Given the description of an element on the screen output the (x, y) to click on. 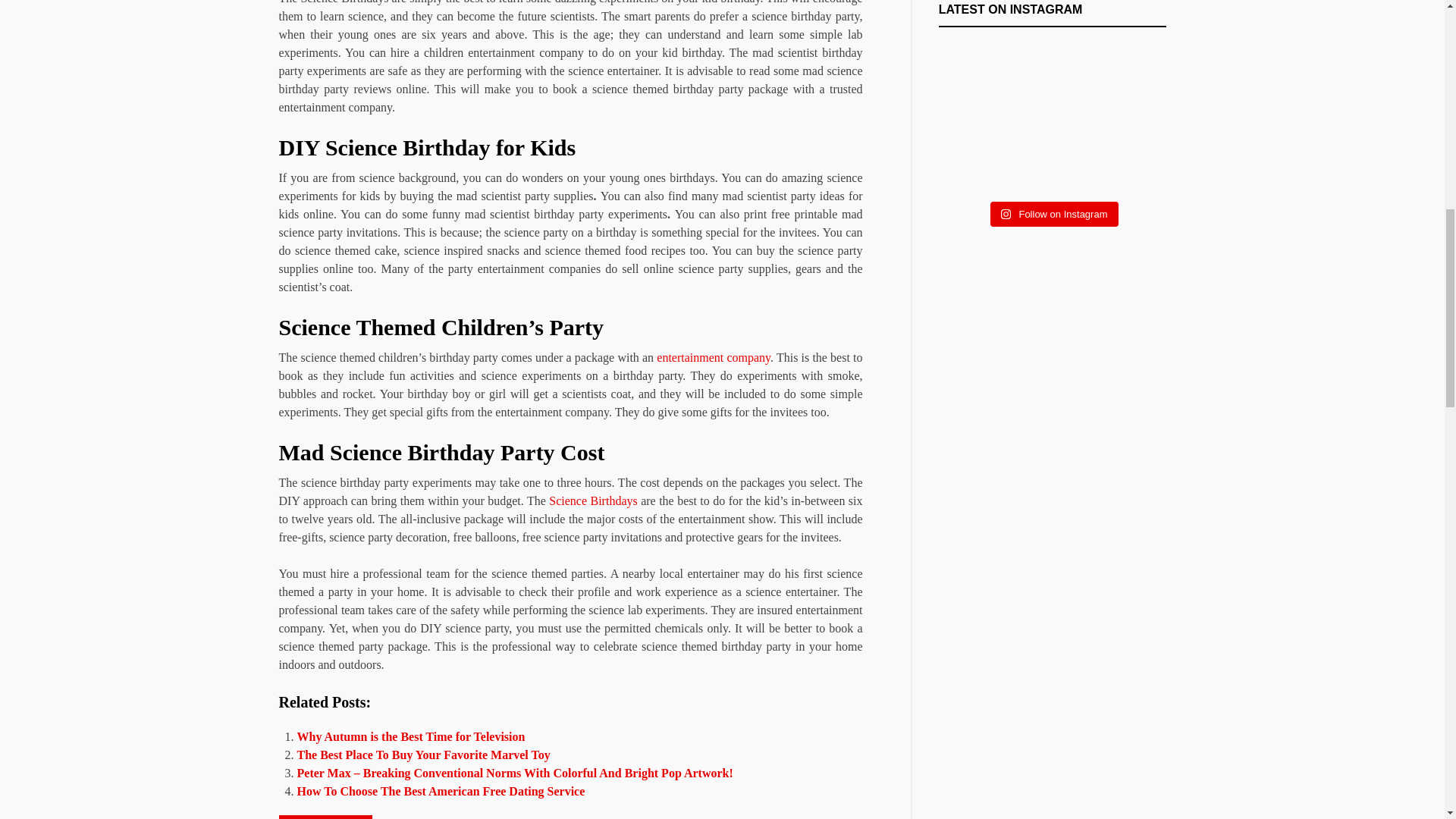
How To Choose The Best American Free Dating Service (441, 790)
The Best Place To Buy Your Favorite Marvel Toy (423, 754)
Why Autumn is the Best Time for Television (411, 736)
entertainment company (713, 357)
Science Birthdays (592, 500)
Why Autumn is the Best Time for Television (411, 736)
